Given the description of an element on the screen output the (x, y) to click on. 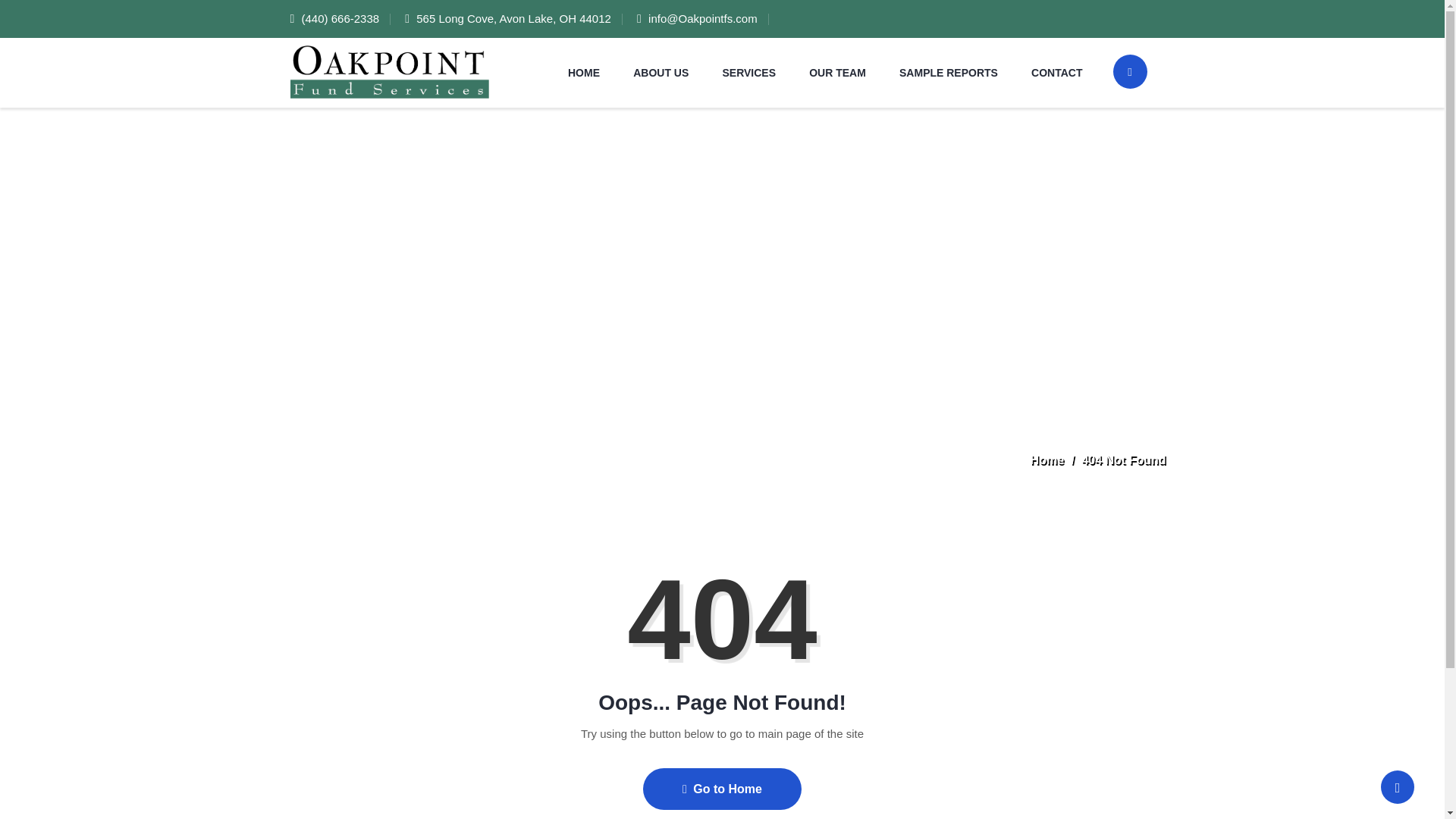
  Go to Home (722, 788)
SERVICES (748, 72)
CONTACT (1056, 72)
Back to Top (1396, 786)
SAMPLE REPORTS (948, 72)
ABOUT US (660, 72)
Home (1047, 459)
OUR TEAM (837, 72)
